Given the description of an element on the screen output the (x, y) to click on. 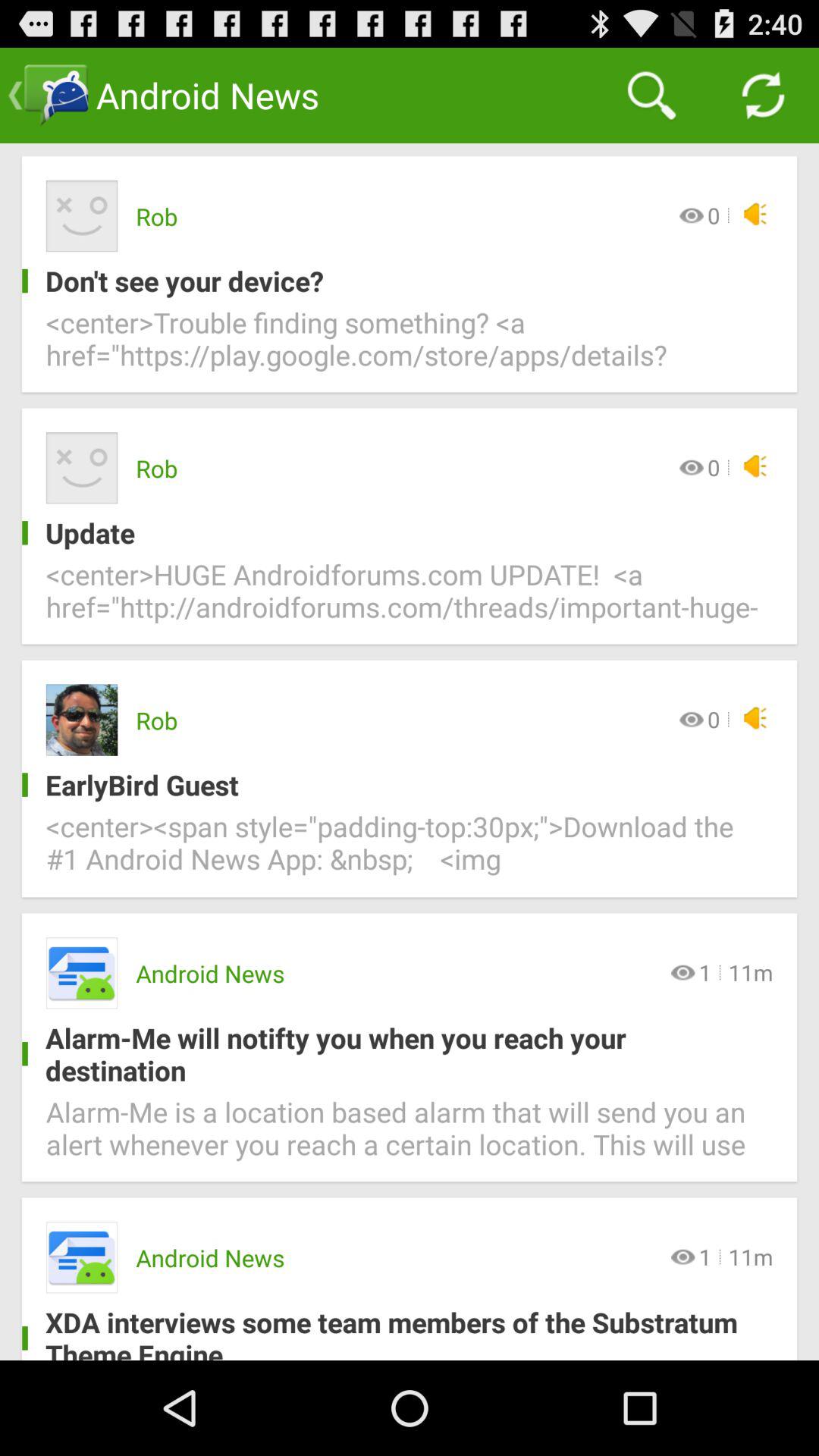
jump until the center span style item (409, 852)
